Given the description of an element on the screen output the (x, y) to click on. 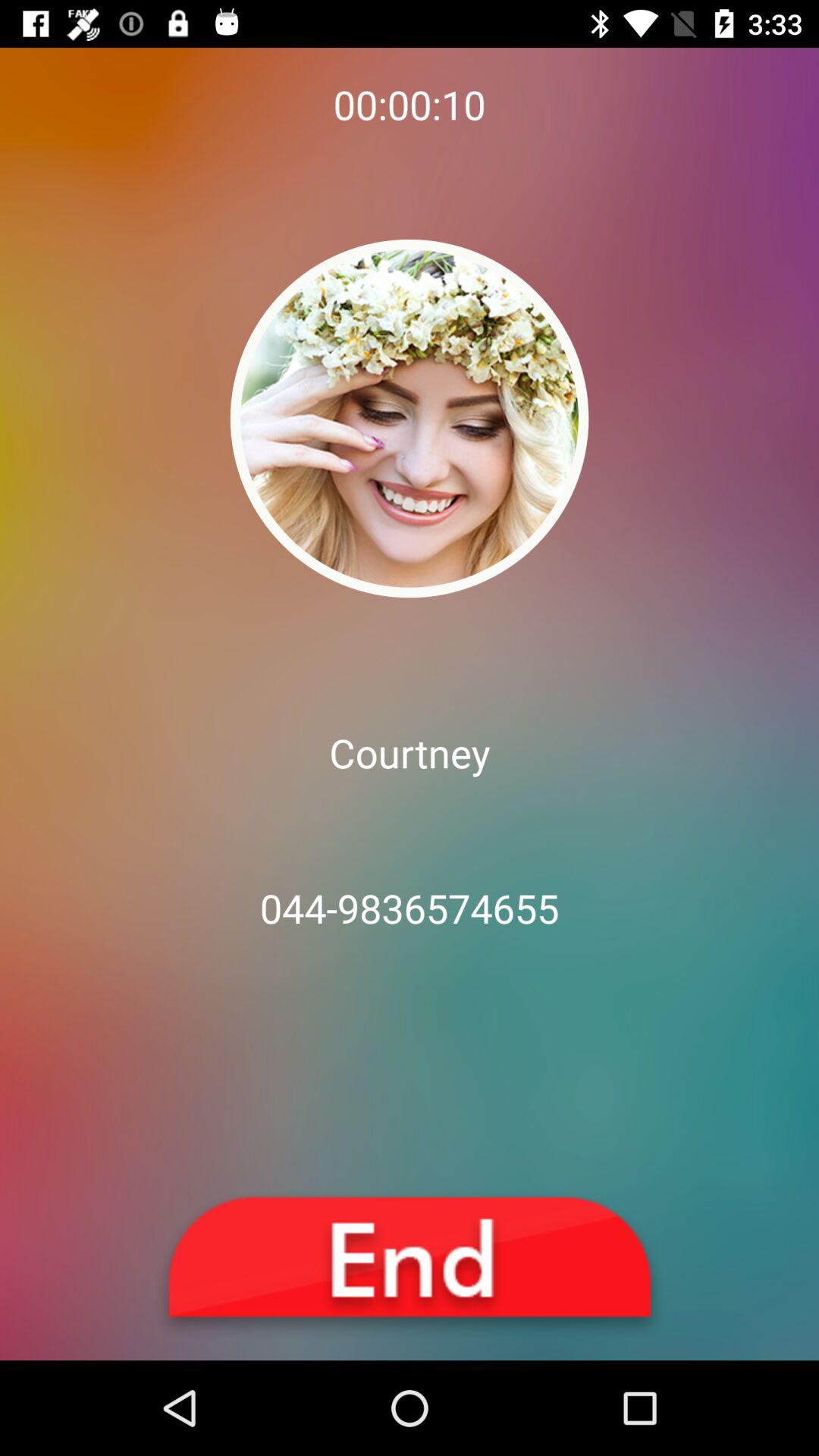
end option (409, 1264)
